Given the description of an element on the screen output the (x, y) to click on. 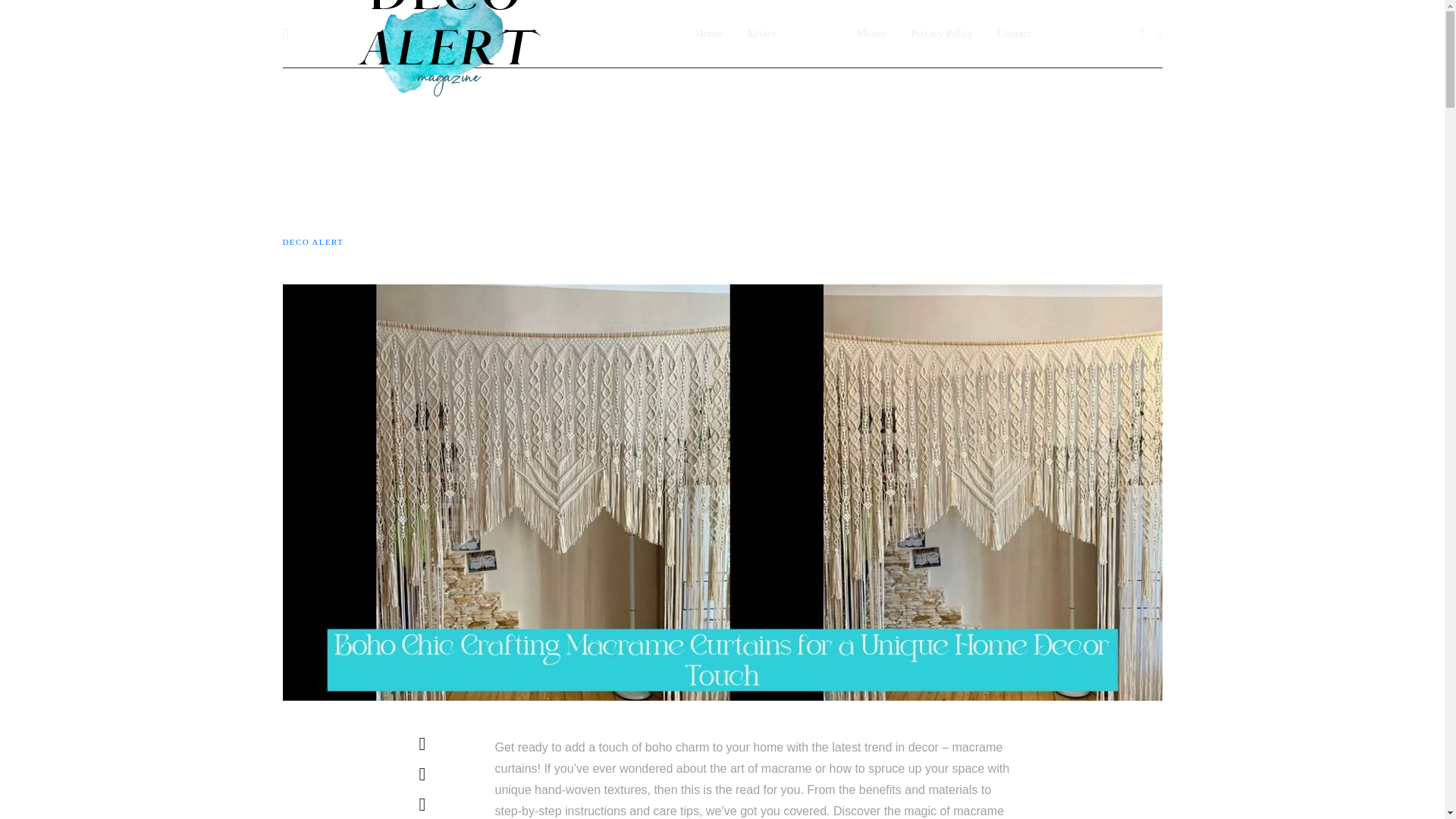
Privacy Policy (942, 33)
DECO ALERT (312, 240)
View all posts by Deco Alert (312, 240)
INTERIOR (305, 110)
